Given the description of an element on the screen output the (x, y) to click on. 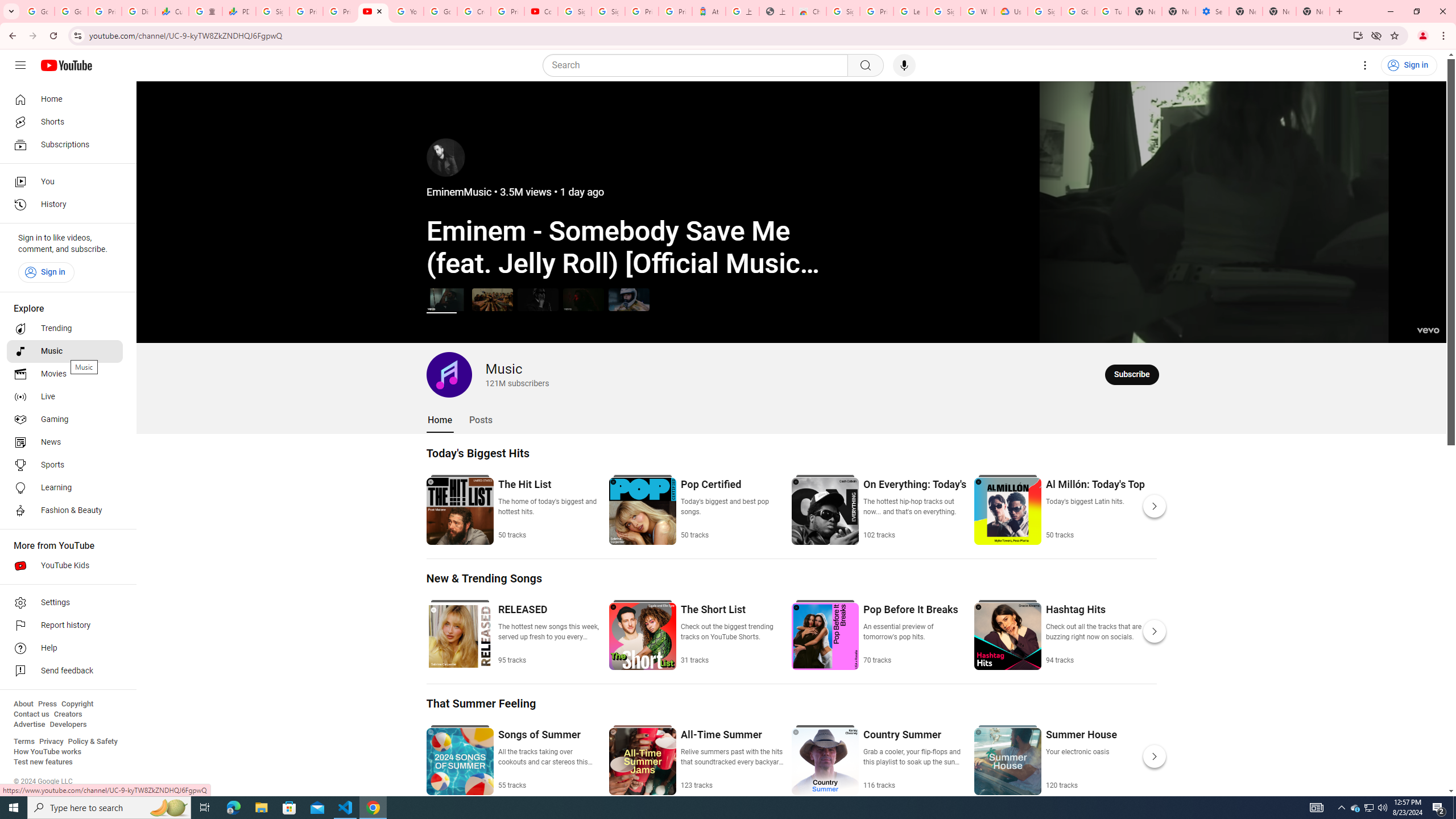
A$AP Rocky - HIGHJACK (Official Video) (537, 299)
Sign in - Google Accounts (842, 11)
